Given the description of an element on the screen output the (x, y) to click on. 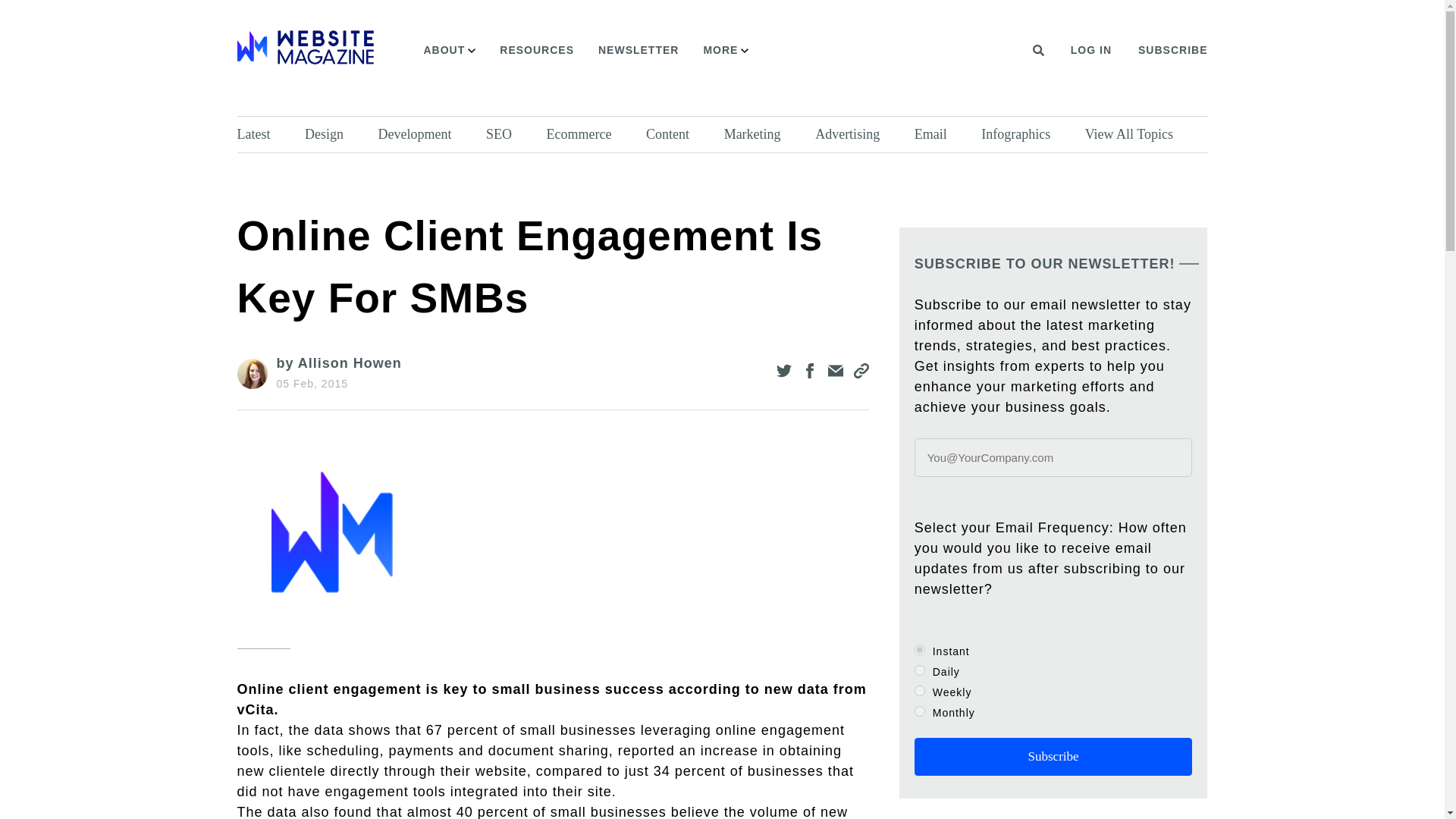
MORE (725, 50)
Latest (266, 134)
Website Magazine Logo (303, 47)
Development (428, 134)
LOG IN (1091, 50)
SUBSCRIBE (1172, 50)
monthly (919, 710)
weekly (919, 690)
Marketing (765, 134)
View All Topics (1141, 134)
